Given the description of an element on the screen output the (x, y) to click on. 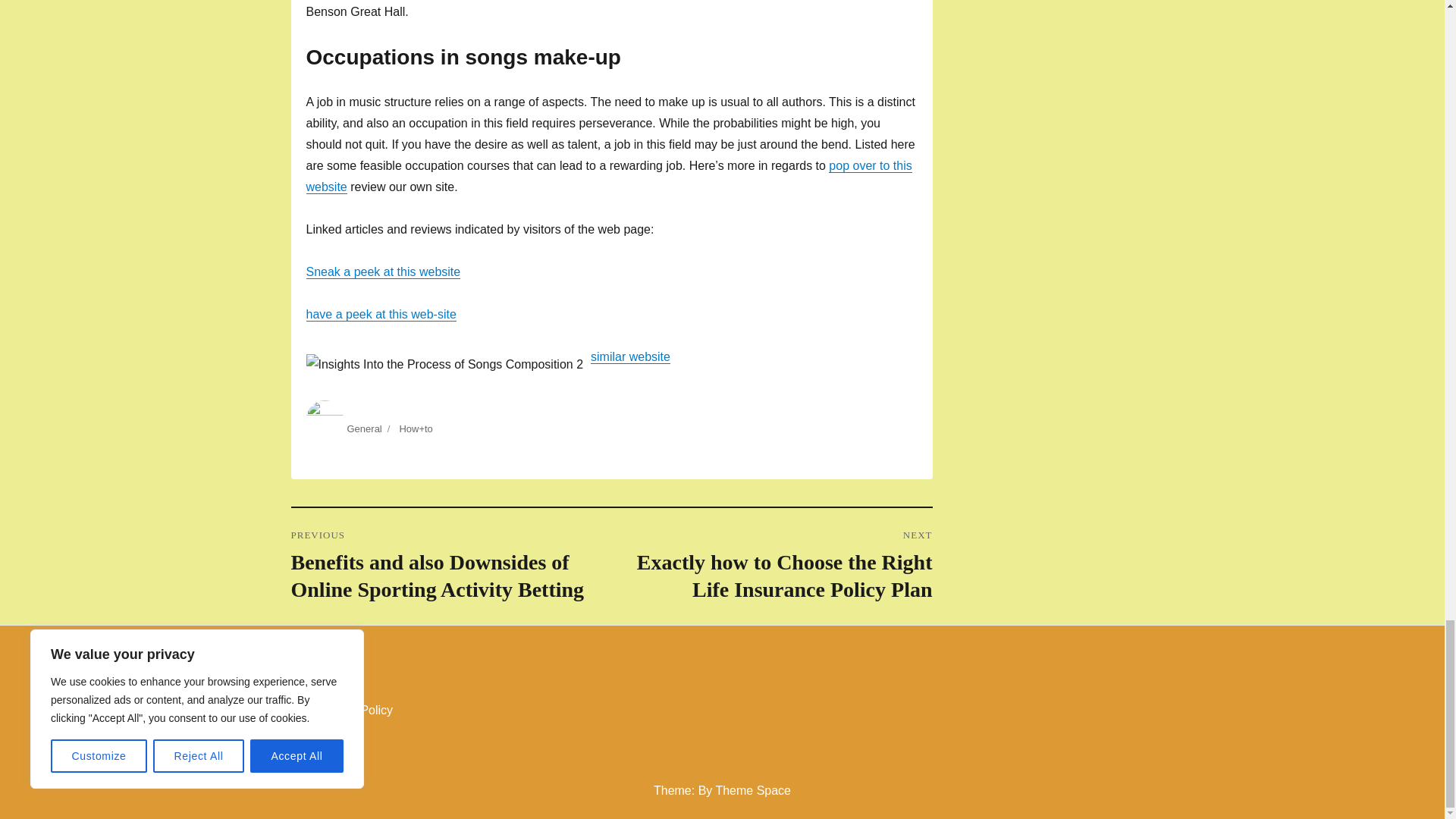
similar website (630, 356)
General (364, 428)
have a peek at this web-site (381, 314)
Sneak a peek at this website (383, 271)
pop over to this website (608, 175)
